Given the description of an element on the screen output the (x, y) to click on. 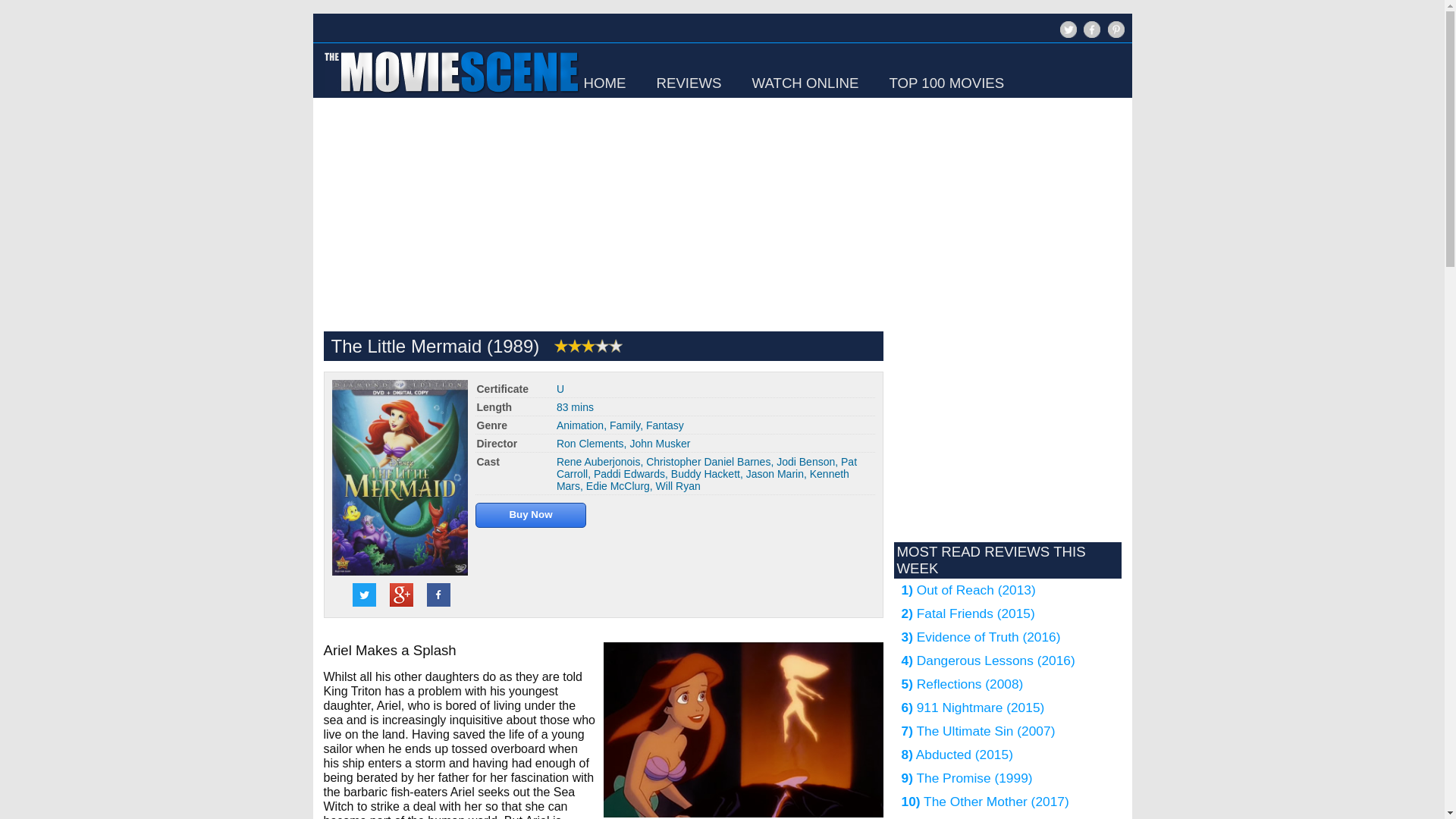
Follow The Movie Scene on Twitter (1068, 29)
Will Ryan (678, 485)
Christopher Daniel Barnes (708, 461)
Fantasy (665, 425)
HOME (604, 83)
Animation (580, 425)
Rene Auberjonois (598, 461)
Share on gplus (401, 594)
Animation movies (580, 425)
Paddi Edwards (629, 473)
Follow The Movie Scene on Twitter (1067, 37)
Like The Movie Scene on facebook (1090, 37)
John Musker (659, 443)
REVIEWS (688, 83)
